Given the description of an element on the screen output the (x, y) to click on. 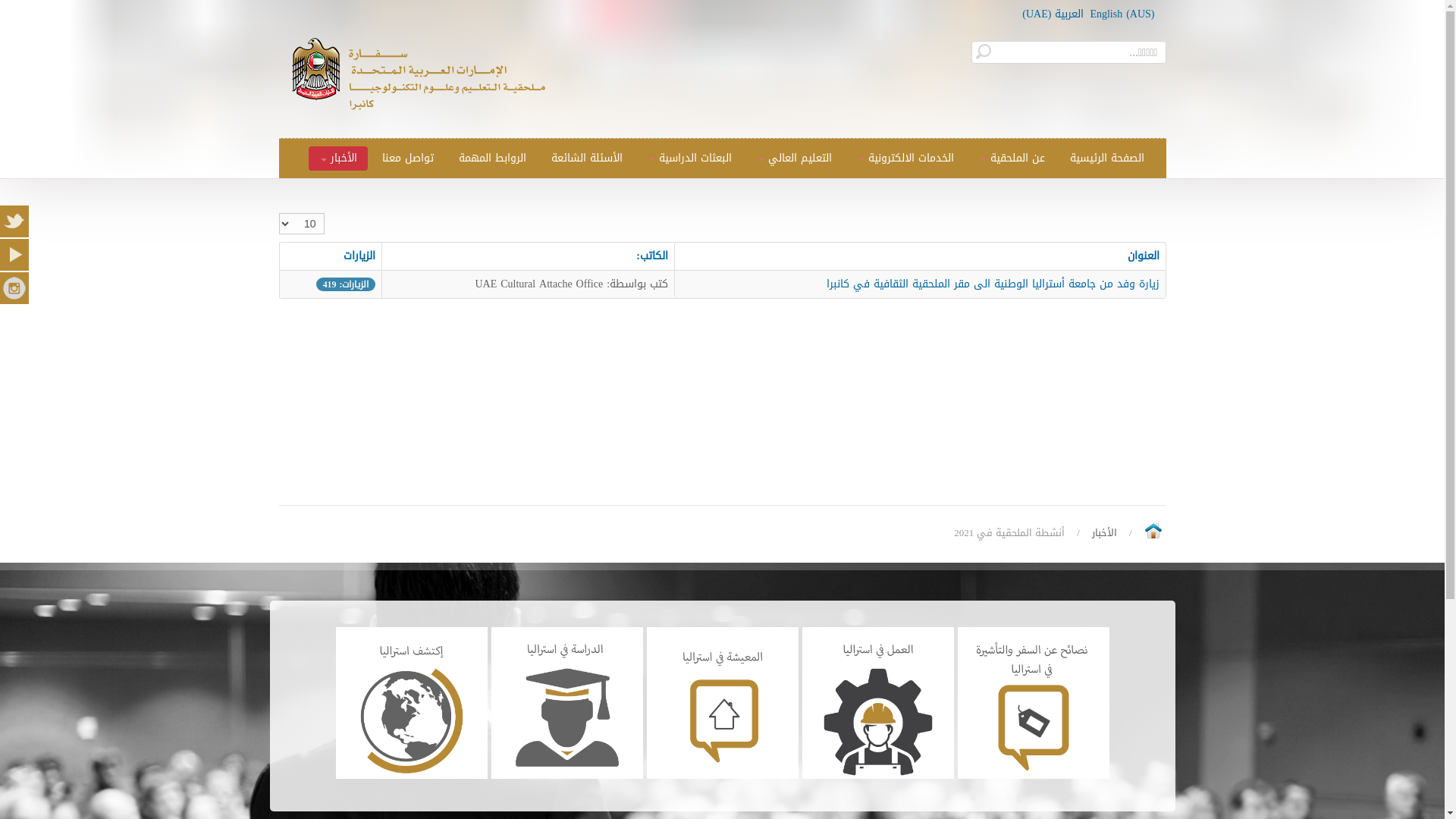
English (AUS) Element type: text (1121, 13)
